Given the description of an element on the screen output the (x, y) to click on. 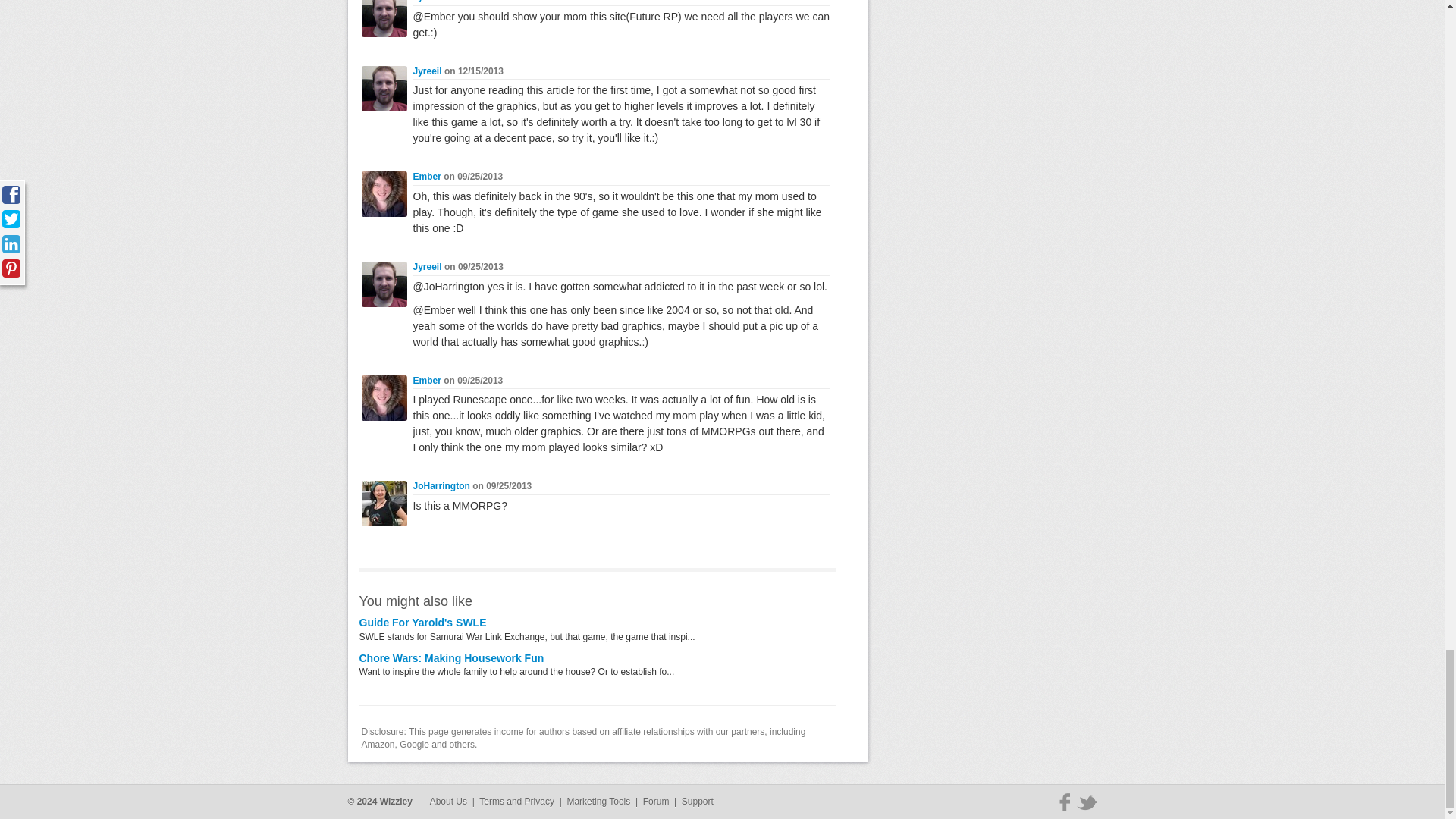
Guide For Yarold's SWLE (422, 622)
Jyreeil (426, 71)
Ember (426, 176)
Jyreeil (426, 266)
JoHarrington (440, 485)
Jyreeil (426, 1)
Ember (426, 380)
Twitter (1087, 802)
